Given the description of an element on the screen output the (x, y) to click on. 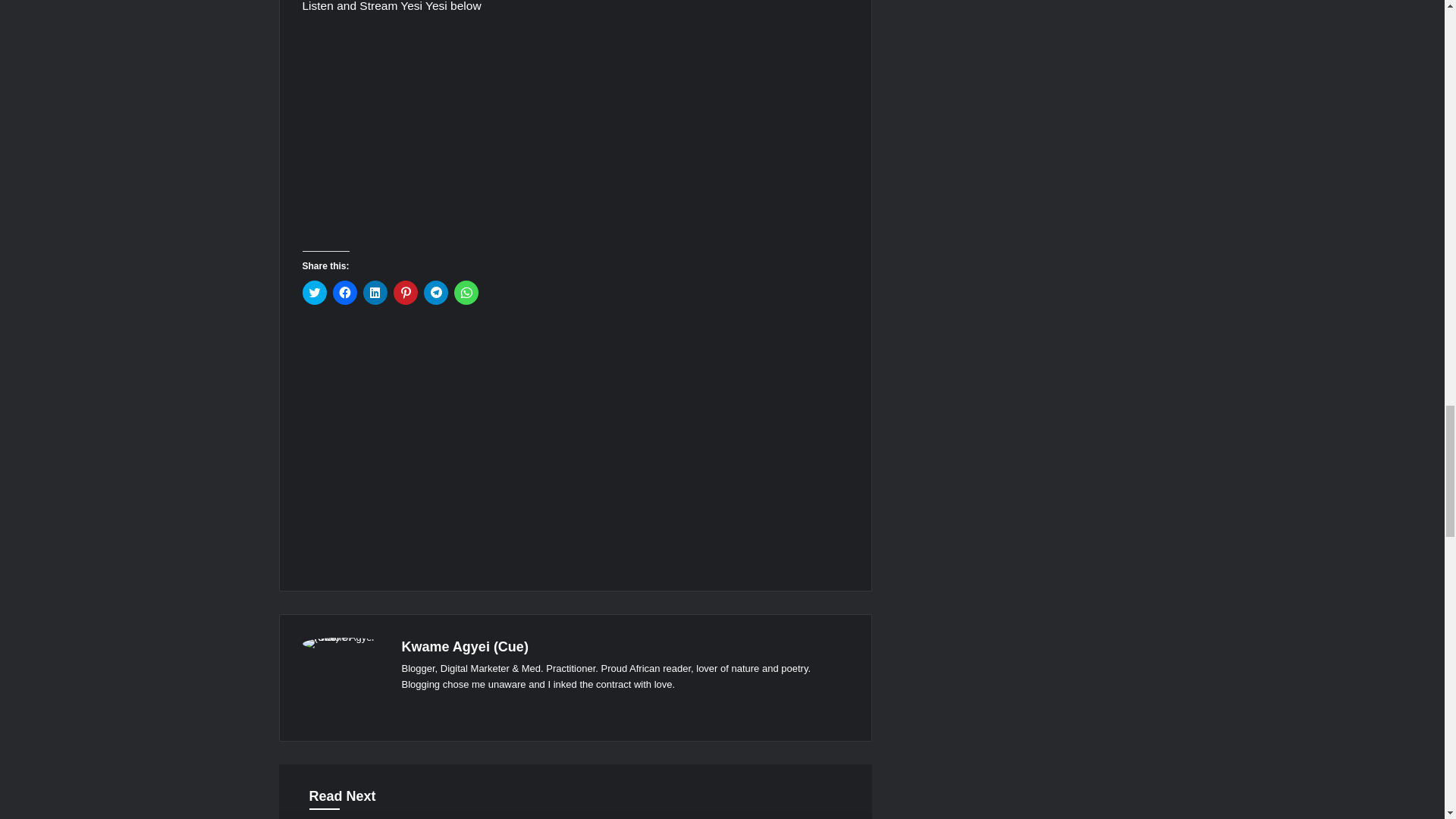
Facebook (410, 709)
Click to share on Pinterest (404, 292)
Click to share on LinkedIn (374, 292)
Click to share on Telegram (434, 292)
Click to share on Facebook (343, 292)
Click to share on WhatsApp (464, 292)
Click to share on Twitter (313, 292)
X (429, 709)
